Given the description of an element on the screen output the (x, y) to click on. 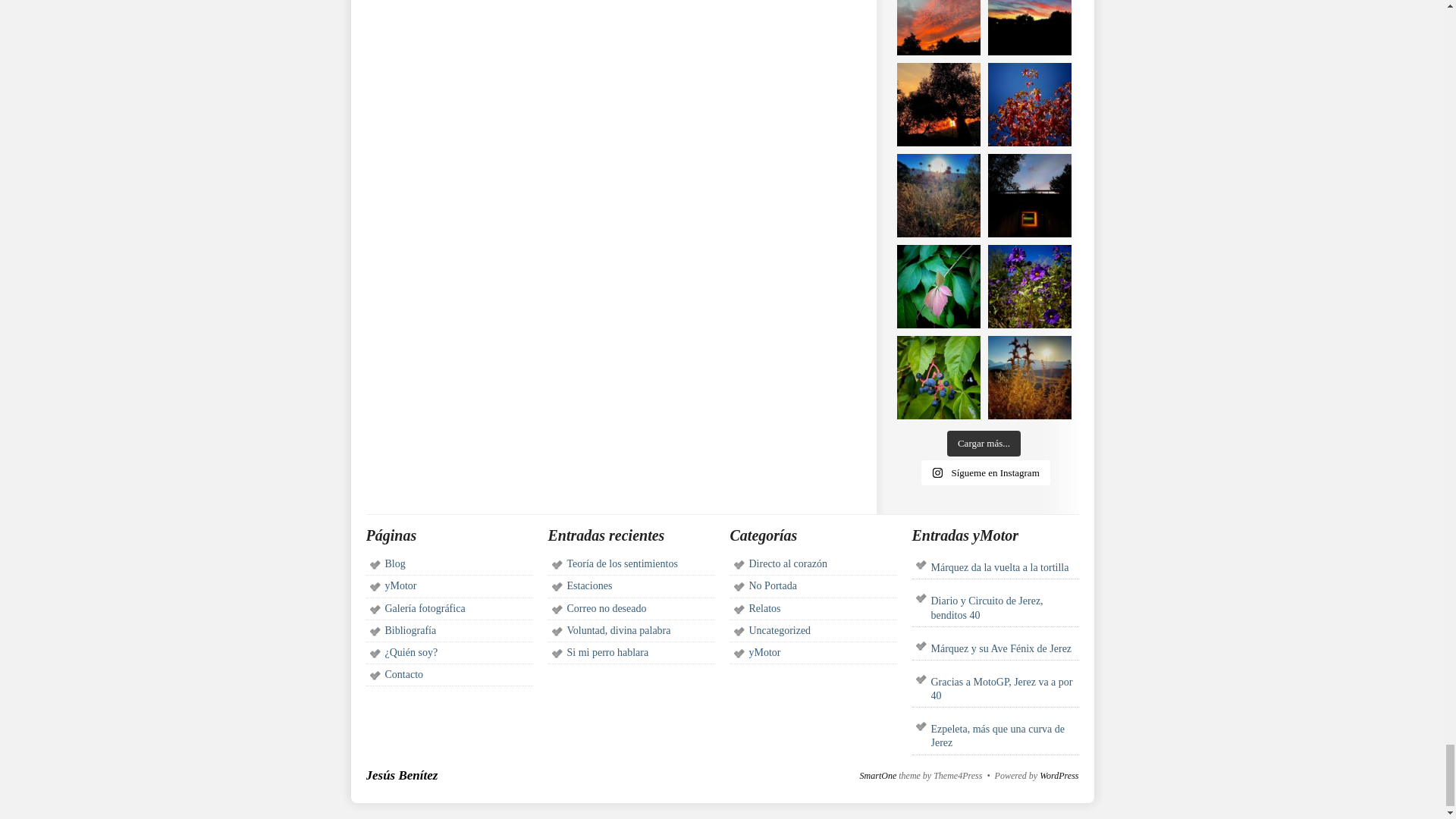
Semantic Personal Publishing Platform (1058, 775)
